Given the description of an element on the screen output the (x, y) to click on. 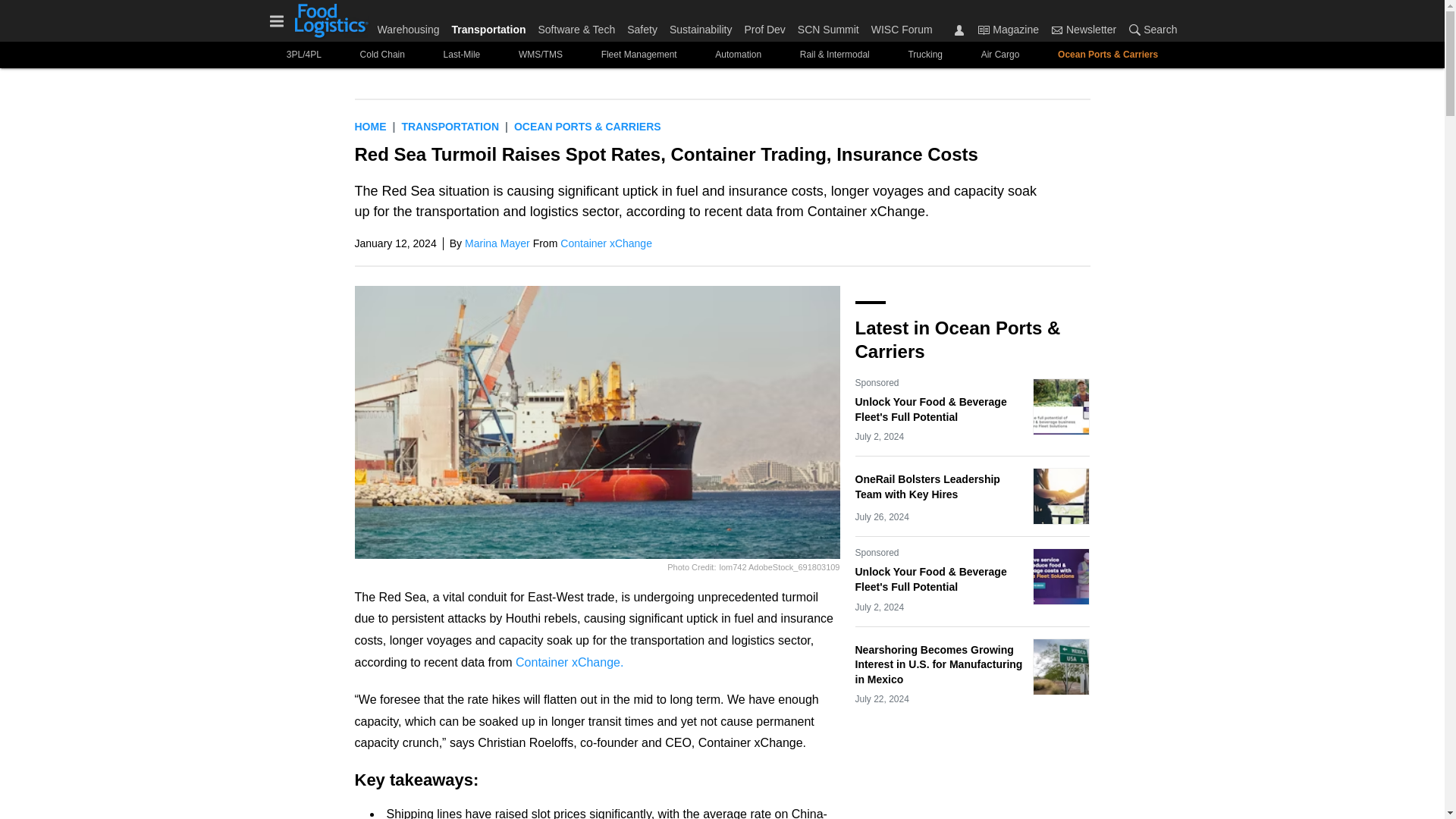
Transportation (488, 26)
Air Cargo (1000, 54)
Sustainability (700, 26)
Search (1134, 29)
Trucking (925, 54)
Newsletter (1056, 29)
Last-Mile (461, 54)
Sponsored (877, 382)
Search (1149, 29)
WISC Forum (898, 26)
Magazine (983, 29)
Sponsored (877, 552)
Magazine (1008, 29)
SCN Summit (828, 26)
Transportation (450, 126)
